Given the description of an element on the screen output the (x, y) to click on. 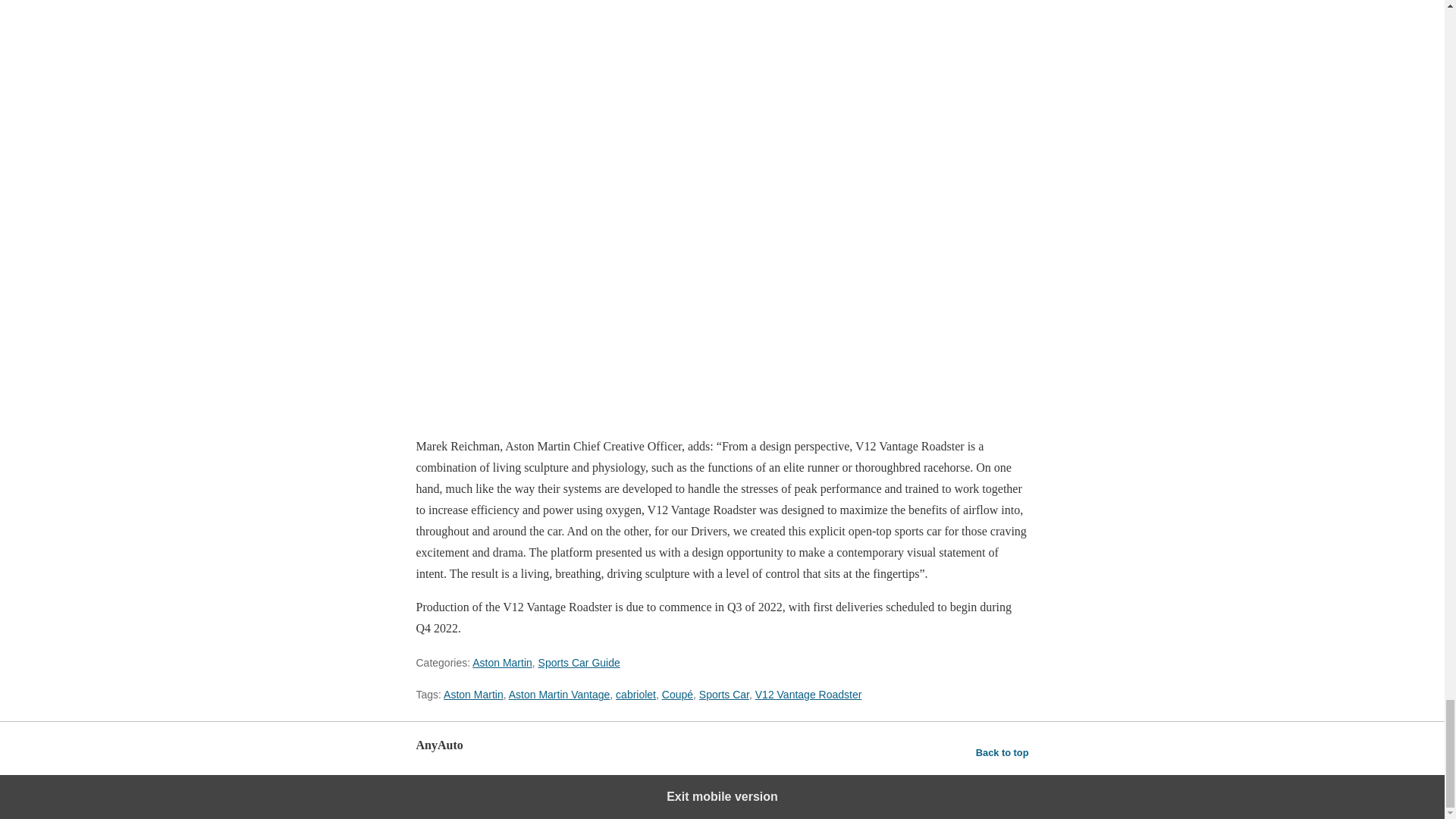
cabriolet (635, 694)
Aston Martin (473, 694)
V12 Vantage Roadster (808, 694)
Sports Car (723, 694)
Aston Martin Vantage (559, 694)
Aston Martin (501, 662)
Sports Car Guide (579, 662)
Back to top (1002, 752)
